Given the description of an element on the screen output the (x, y) to click on. 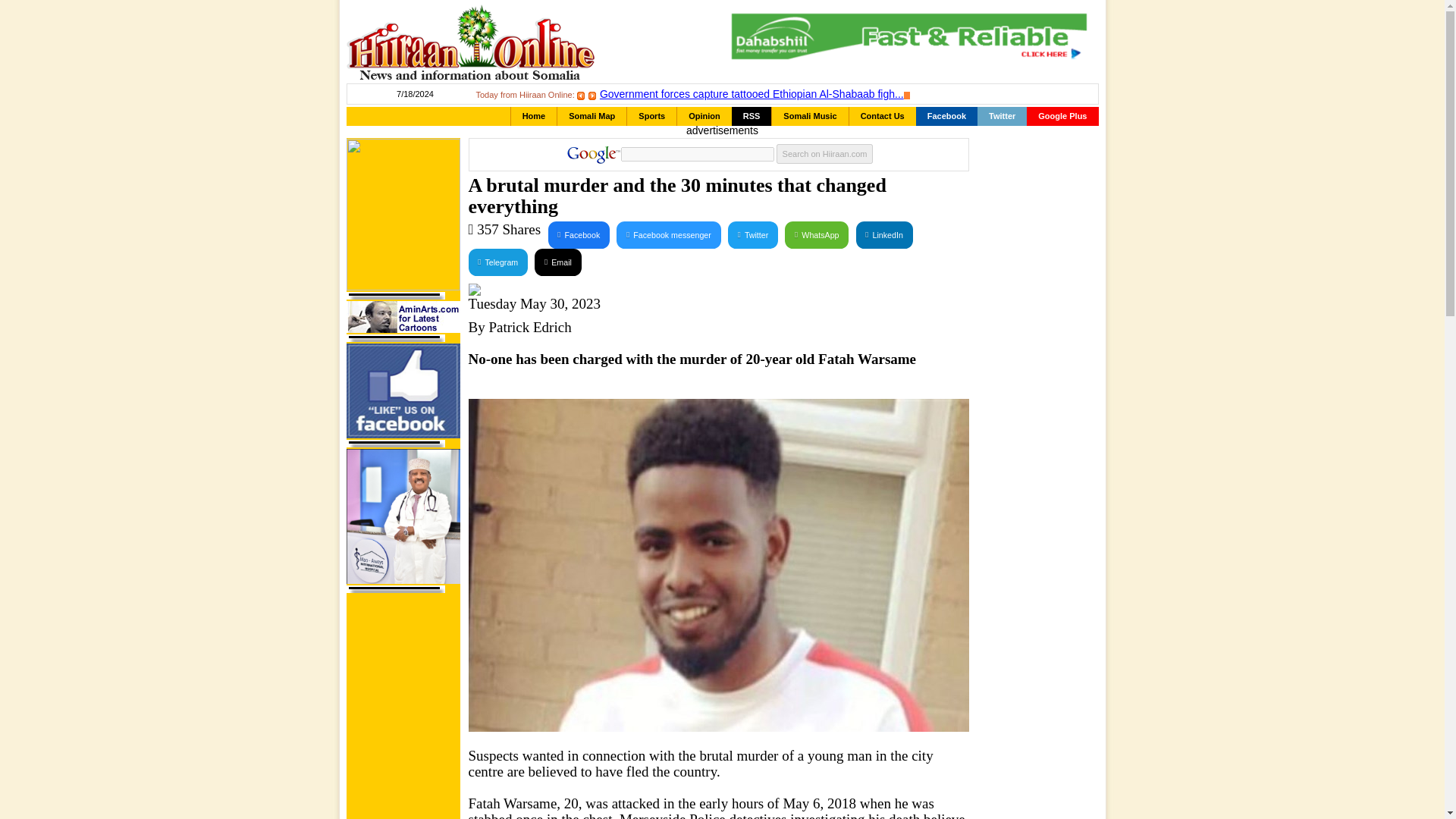
Google Plus (1061, 116)
Search on Hiiraan.com (824, 153)
RSS (751, 116)
WhatsApp (816, 234)
Email (557, 262)
Home (534, 116)
Twitter (752, 234)
Telegram (497, 262)
Somali Music (809, 116)
Facebook (945, 116)
Somali Map (591, 116)
Opinion (704, 116)
Twitter (1001, 116)
Twitter (752, 234)
